Given the description of an element on the screen output the (x, y) to click on. 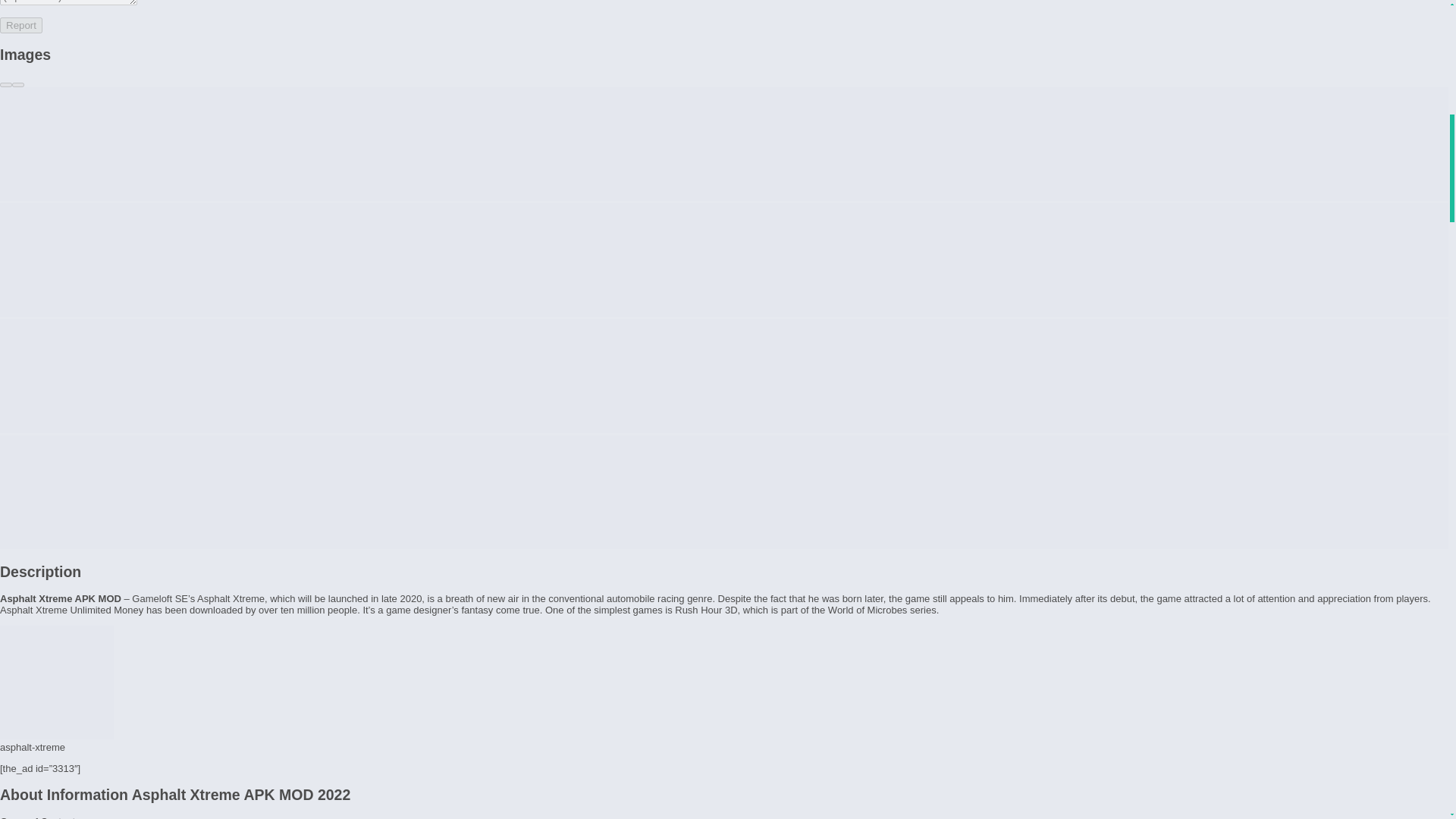
Report (21, 25)
